Given the description of an element on the screen output the (x, y) to click on. 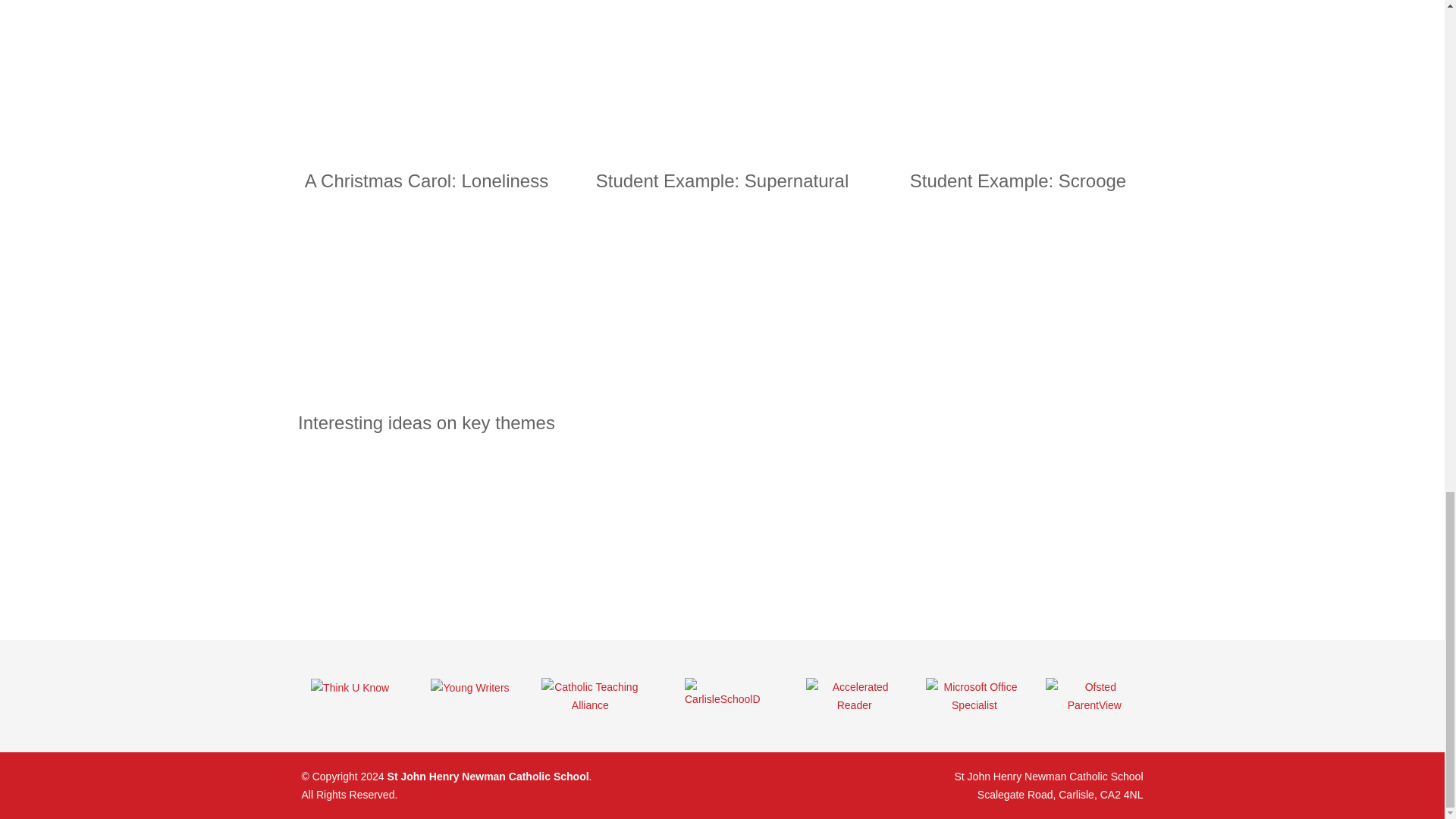
YouTube video player (722, 66)
YouTube video player (425, 66)
YouTube video player (425, 539)
YouTube video player (425, 297)
